Given the description of an element on the screen output the (x, y) to click on. 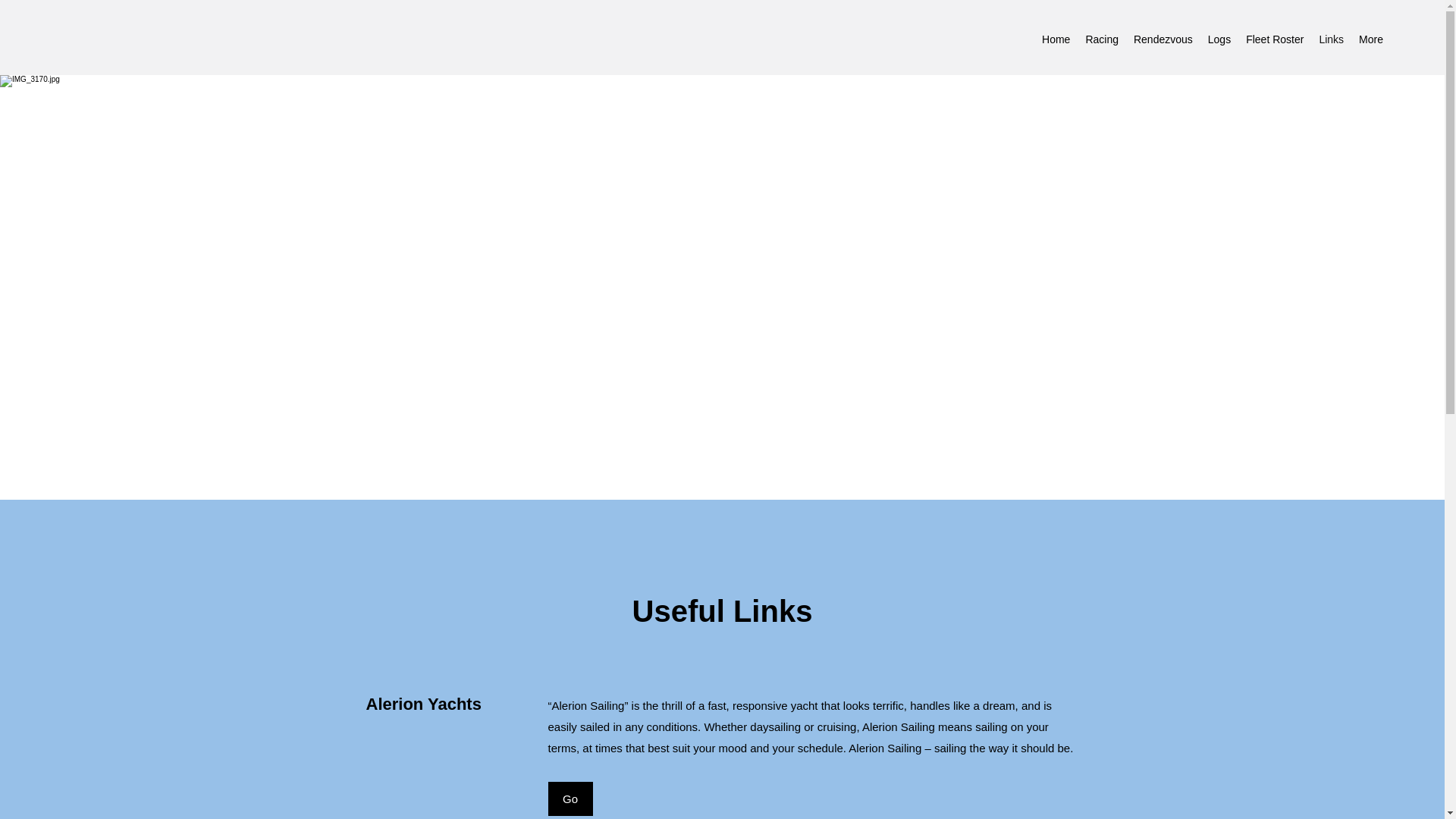
Go (569, 798)
Rendezvous (1162, 41)
Racing (1101, 41)
Fleet Roster (1275, 41)
Home (1055, 41)
Links (1331, 41)
Logs (1219, 41)
